Given the description of an element on the screen output the (x, y) to click on. 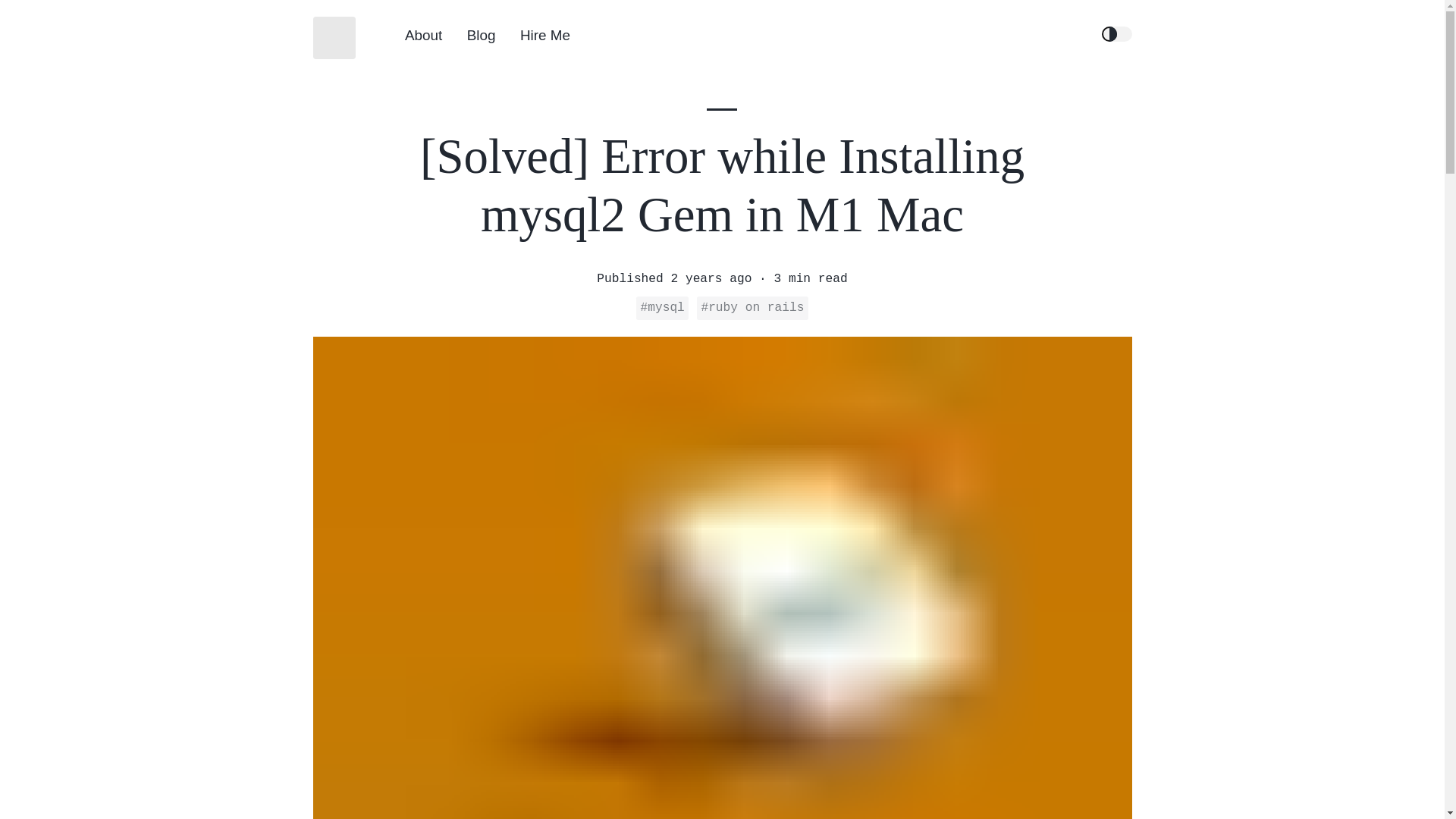
Toggle dark mode (1115, 33)
Hire Me (544, 35)
About (423, 35)
